Given the description of an element on the screen output the (x, y) to click on. 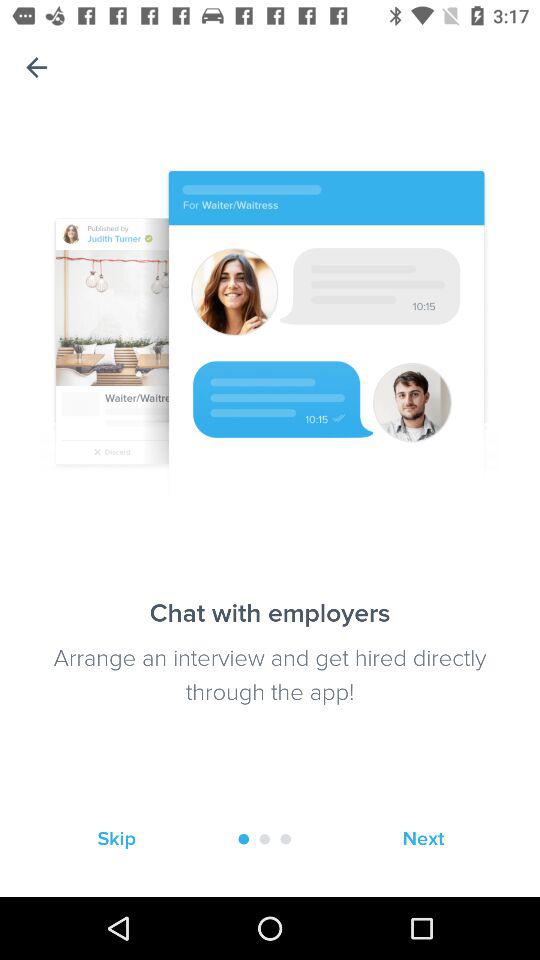
jump until the skip (116, 838)
